Given the description of an element on the screen output the (x, y) to click on. 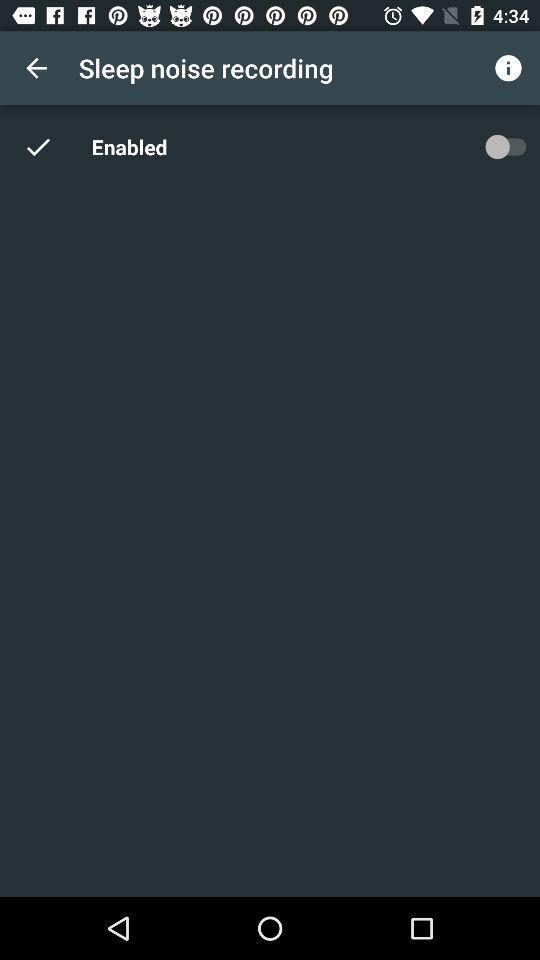
select the item next to the enabled icon (505, 146)
